Given the description of an element on the screen output the (x, y) to click on. 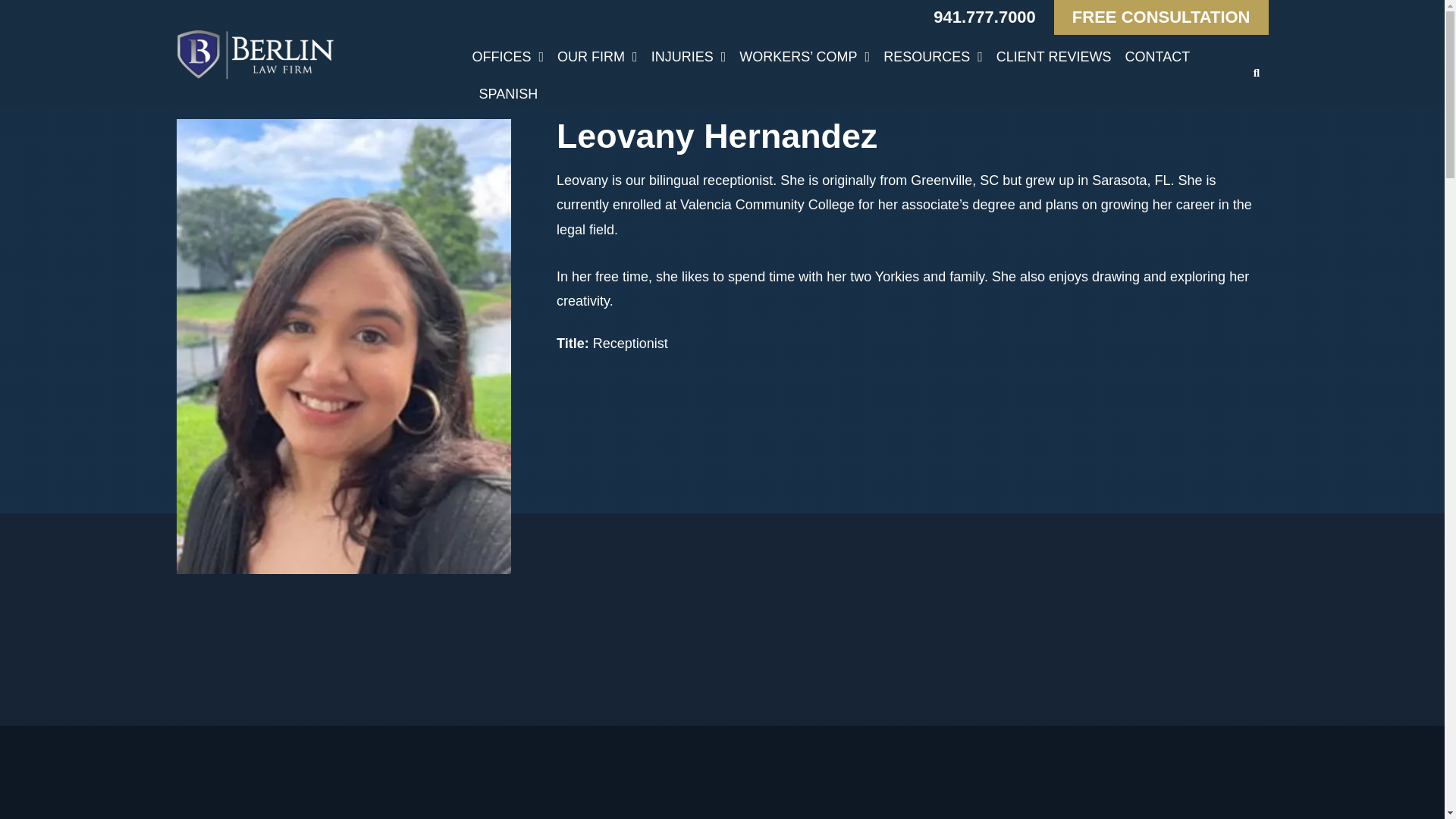
INJURIES (688, 56)
FREE CONSULTATION (1161, 17)
941.777.7000 (984, 17)
Spanish (508, 93)
OFFICES (507, 56)
OUR FIRM (597, 56)
